Given the description of an element on the screen output the (x, y) to click on. 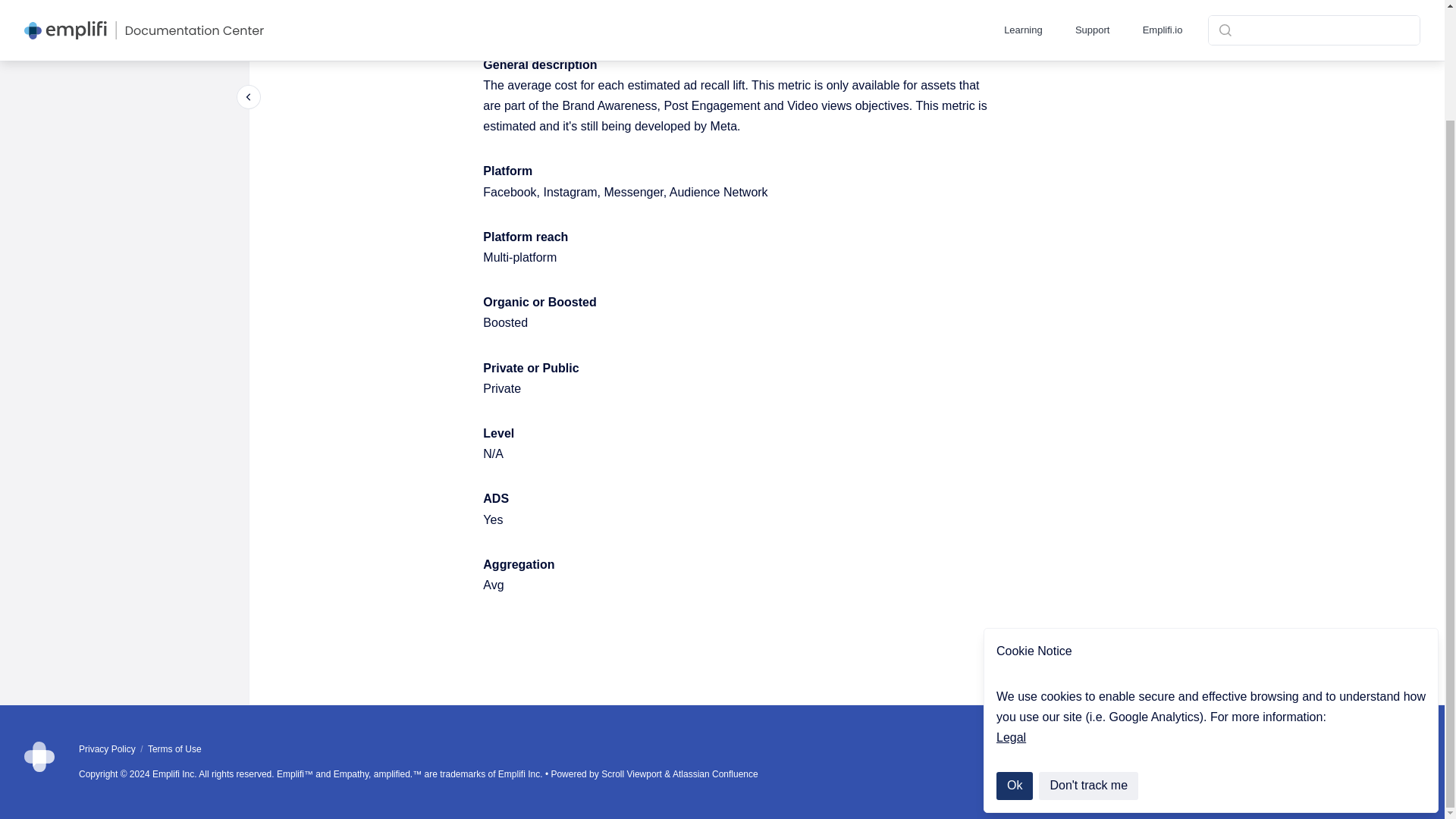
Scroll Viewport (632, 774)
Don't track me (1088, 655)
Privacy Policy (108, 748)
Terms of Use (175, 748)
Ok (1013, 655)
Legal (1010, 606)
Atlassian Confluence (715, 774)
